Given the description of an element on the screen output the (x, y) to click on. 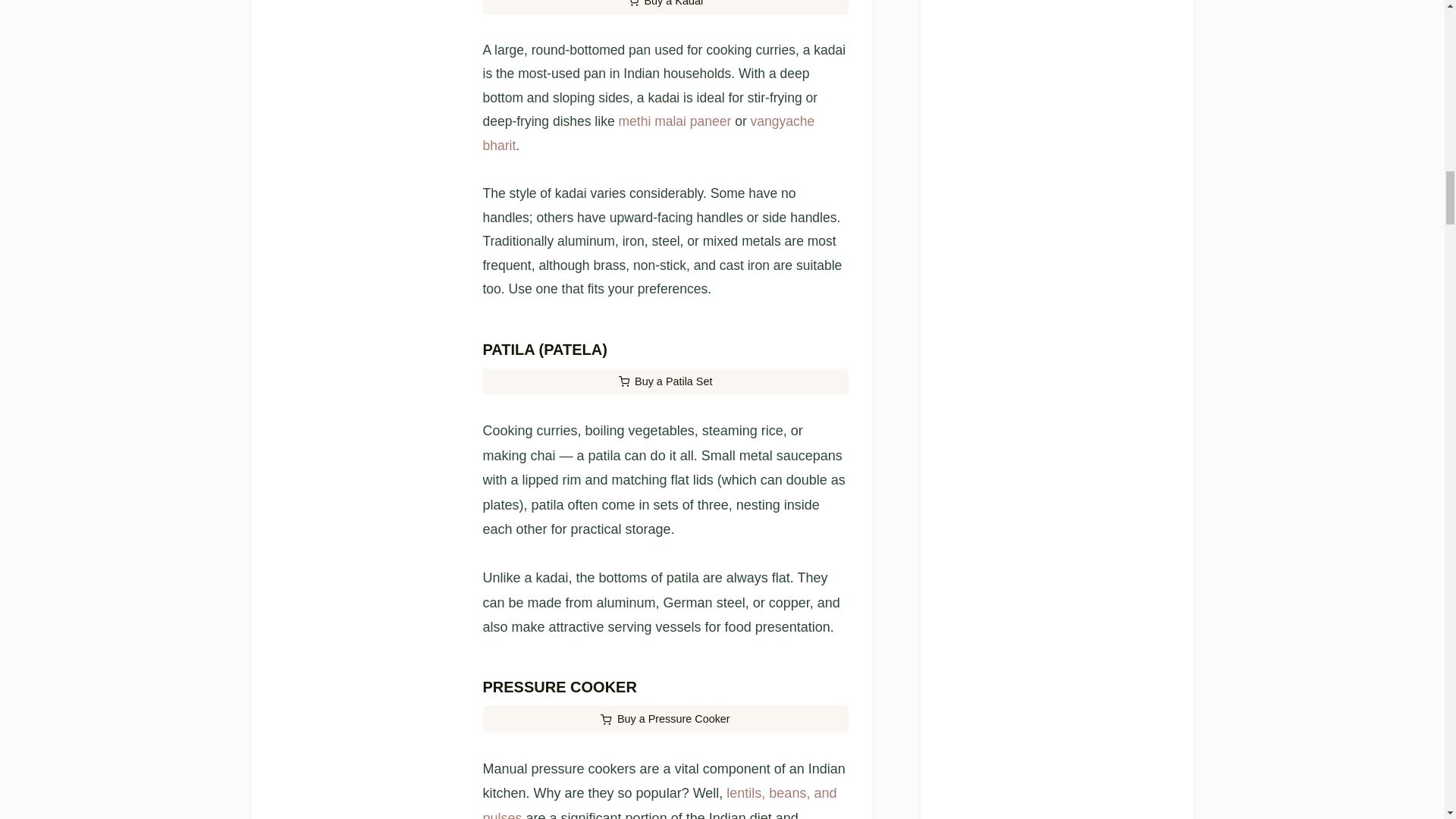
methi malai paneer (673, 120)
vangyache bharit (647, 133)
Buy a Kadai (664, 7)
Buy a Patila Set (664, 381)
